Given the description of an element on the screen output the (x, y) to click on. 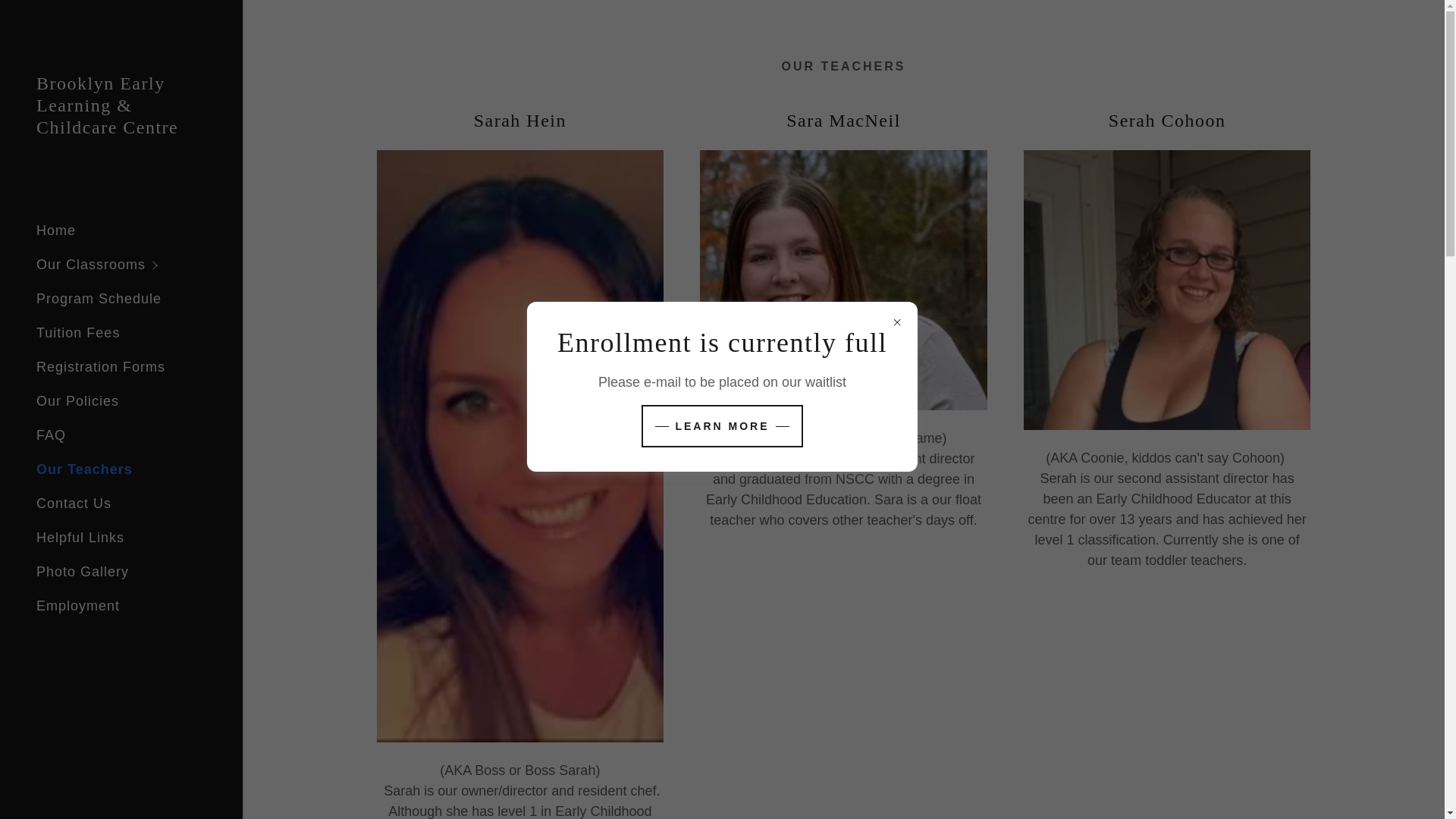
Program Schedule (98, 298)
Tuition Fees (77, 332)
Photo Gallery (82, 571)
FAQ (50, 435)
Helpful Links (79, 537)
Registration Forms (100, 366)
Our Classrooms (139, 264)
Contact Us (74, 503)
Employment (77, 605)
Our Policies (77, 400)
